Given the description of an element on the screen output the (x, y) to click on. 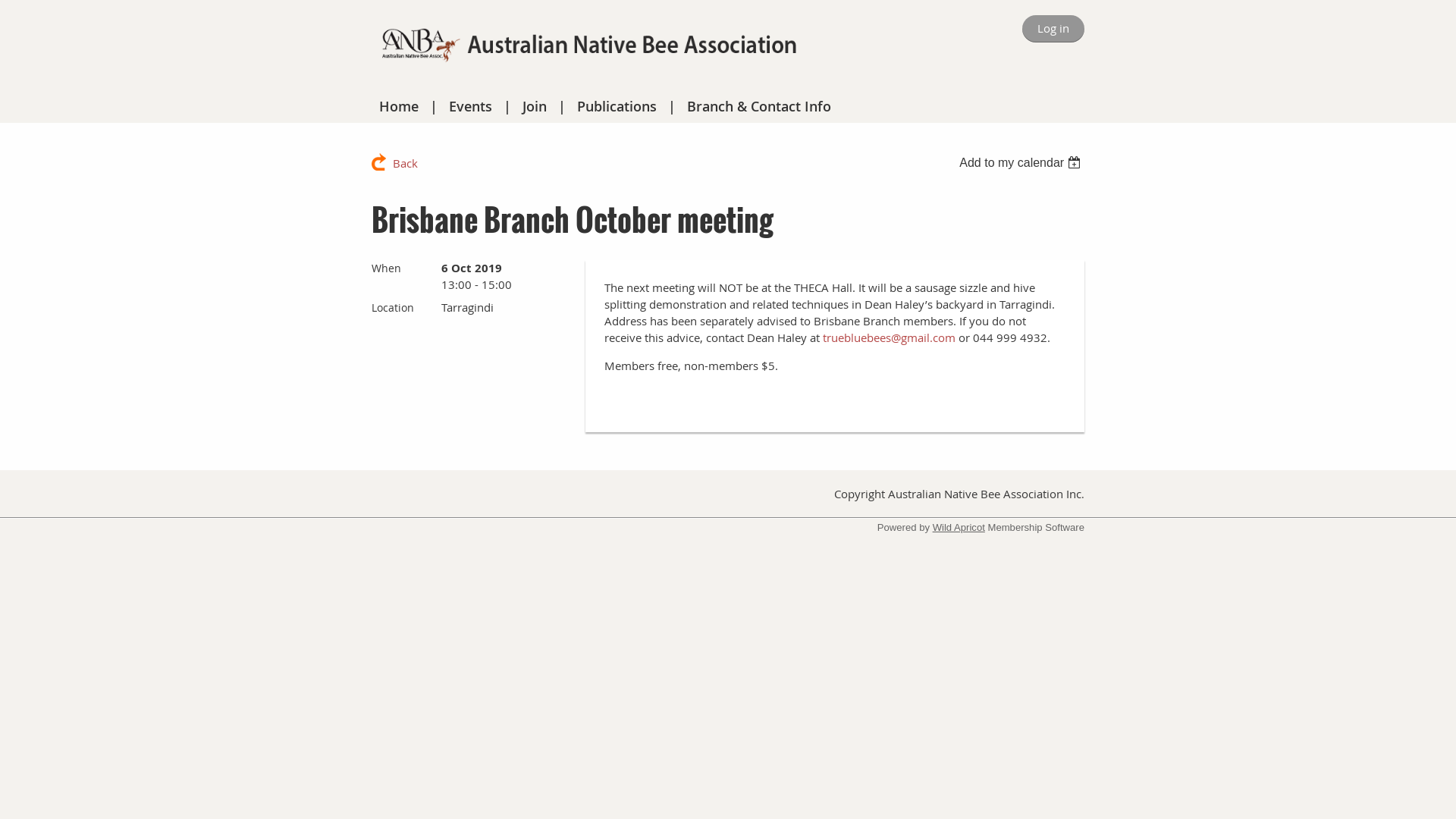
Events Element type: text (470, 106)
Branch & Contact Info Element type: text (759, 106)
Home Element type: text (398, 106)
Wild Apricot Element type: text (958, 527)
Publications Element type: text (616, 106)
Back Element type: text (394, 161)
Join Element type: text (534, 106)
truebluebees@gmail.com Element type: text (888, 337)
Log in Element type: text (1053, 28)
